Given the description of an element on the screen output the (x, y) to click on. 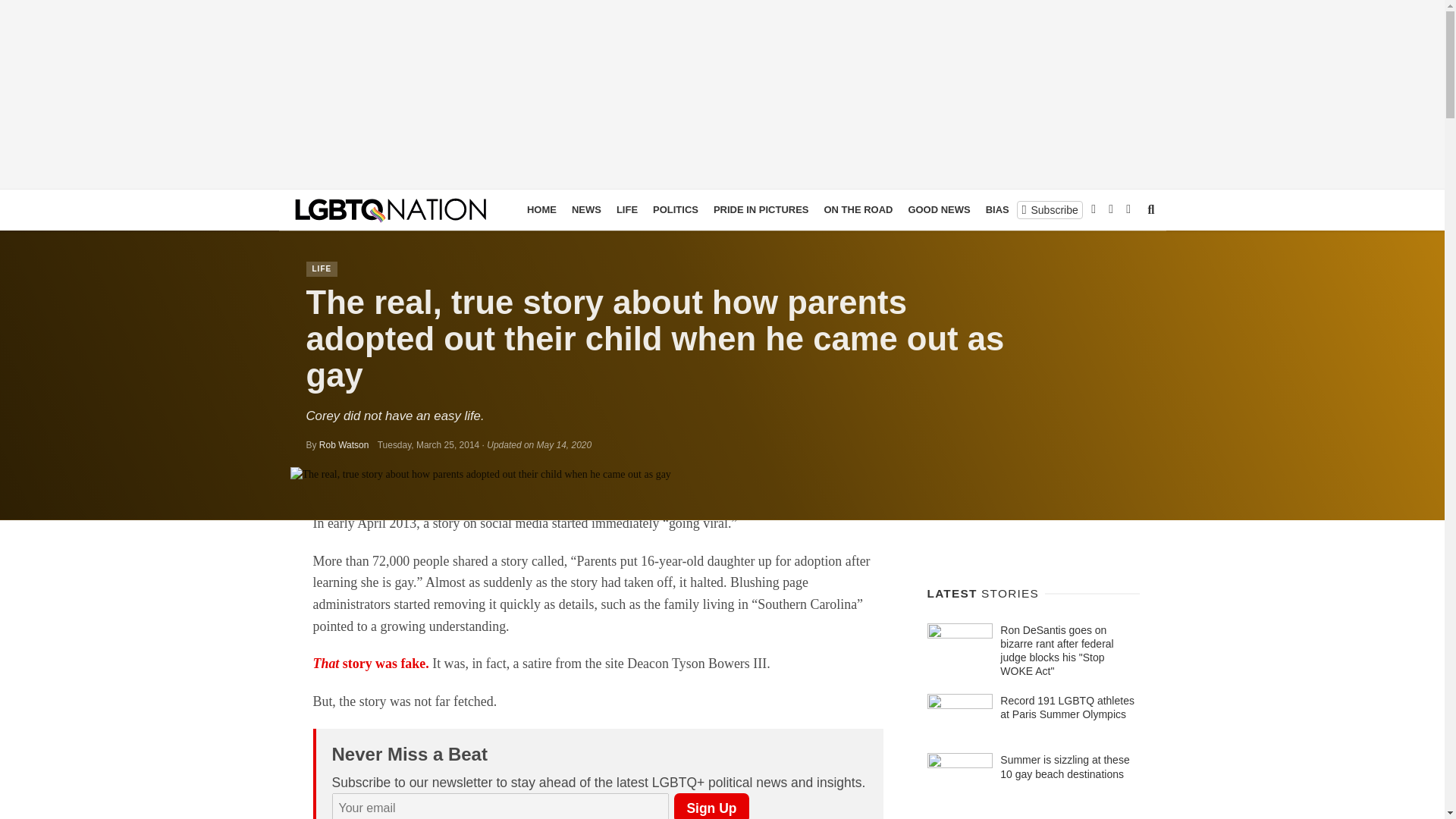
PRIDE IN PICTURES (761, 209)
NEWS (586, 209)
LIFE (626, 209)
ON THE ROAD (857, 209)
COMMENTARY (1097, 209)
Tuesday, March 25, 2014 am31 11:00:51 (428, 444)
HOME (541, 209)
That story was fake. (370, 663)
Posts by Rob Watson (343, 444)
GOOD NEWS (937, 209)
Subscribe (1049, 209)
BIAS WATCH (1016, 209)
LIFE (321, 268)
POLITICS (675, 209)
Sign Up (711, 806)
